Given the description of an element on the screen output the (x, y) to click on. 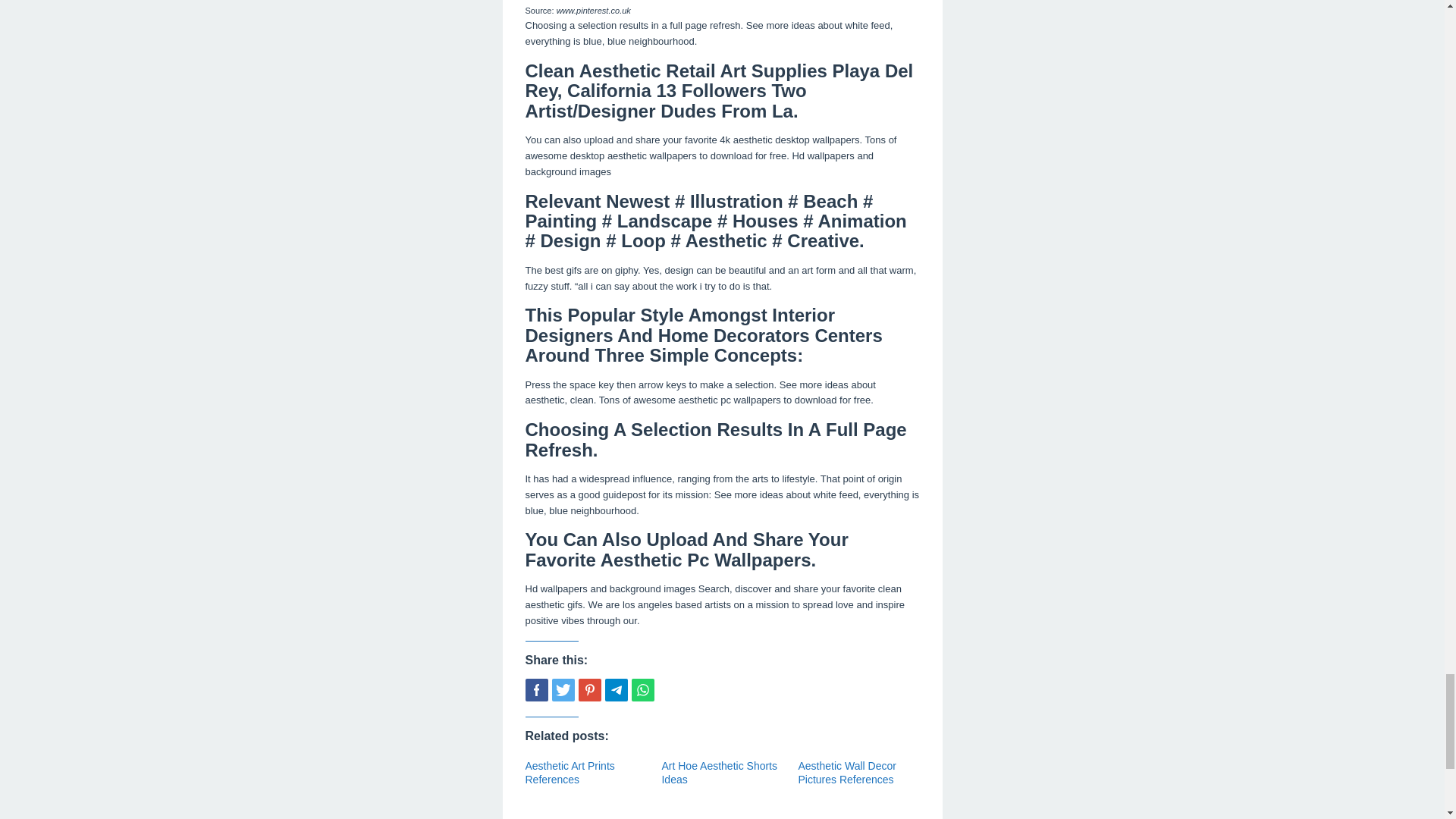
Whatsapp (641, 689)
Permalink to: Art Hoe Aesthetic Shorts Ideas (719, 772)
Pin this (588, 689)
Aesthetic (692, 818)
Aesthetic Art Prints References (569, 772)
Art Hoe Aesthetic Shorts Ideas (719, 772)
Tweet this (563, 689)
Permalink to: Aesthetic Wall Decor Pictures References (846, 772)
Telegram Share (616, 689)
Share this (535, 689)
Aesthetic Art (596, 818)
Aesthetic Wall Decor Pictures References (846, 772)
Permalink to: Aesthetic Art Prints References (569, 772)
